Given the description of an element on the screen output the (x, y) to click on. 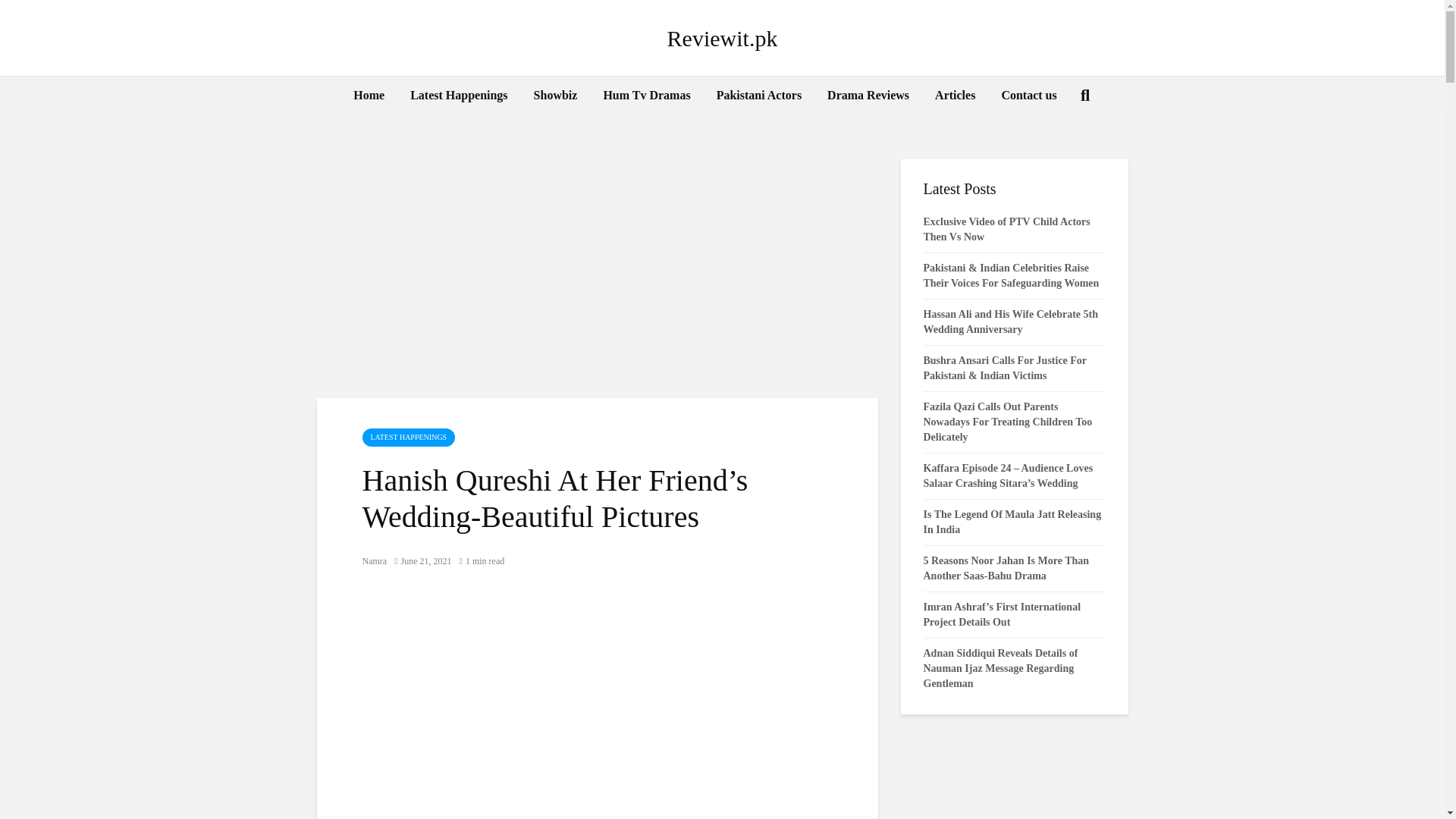
Showbiz (555, 95)
Hum Tv Dramas (646, 95)
Articles (955, 95)
LATEST HAPPENINGS (408, 437)
Hum Tv Dramas (646, 95)
Pakistani Actors (758, 95)
Home (369, 95)
Latest Happenings (458, 95)
3rd party ad content (597, 705)
